Given the description of an element on the screen output the (x, y) to click on. 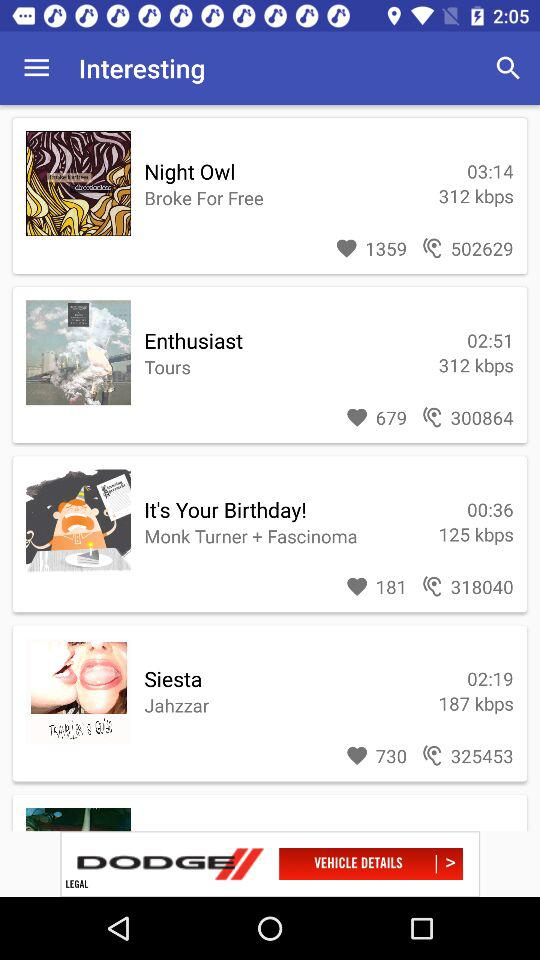
click on advertisement (270, 864)
